Given the description of an element on the screen output the (x, y) to click on. 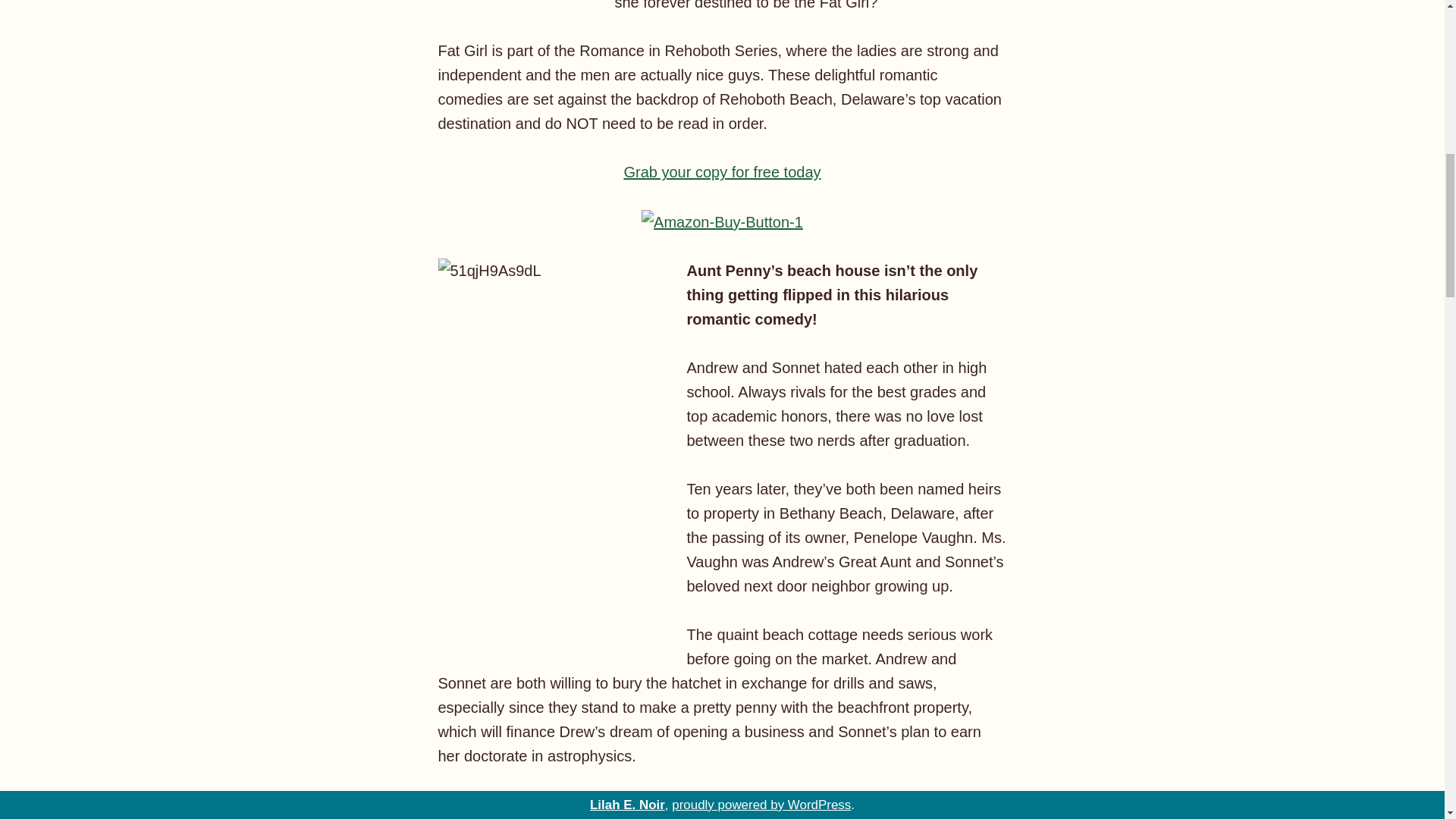
Grab your copy for free today (722, 171)
